Given the description of an element on the screen output the (x, y) to click on. 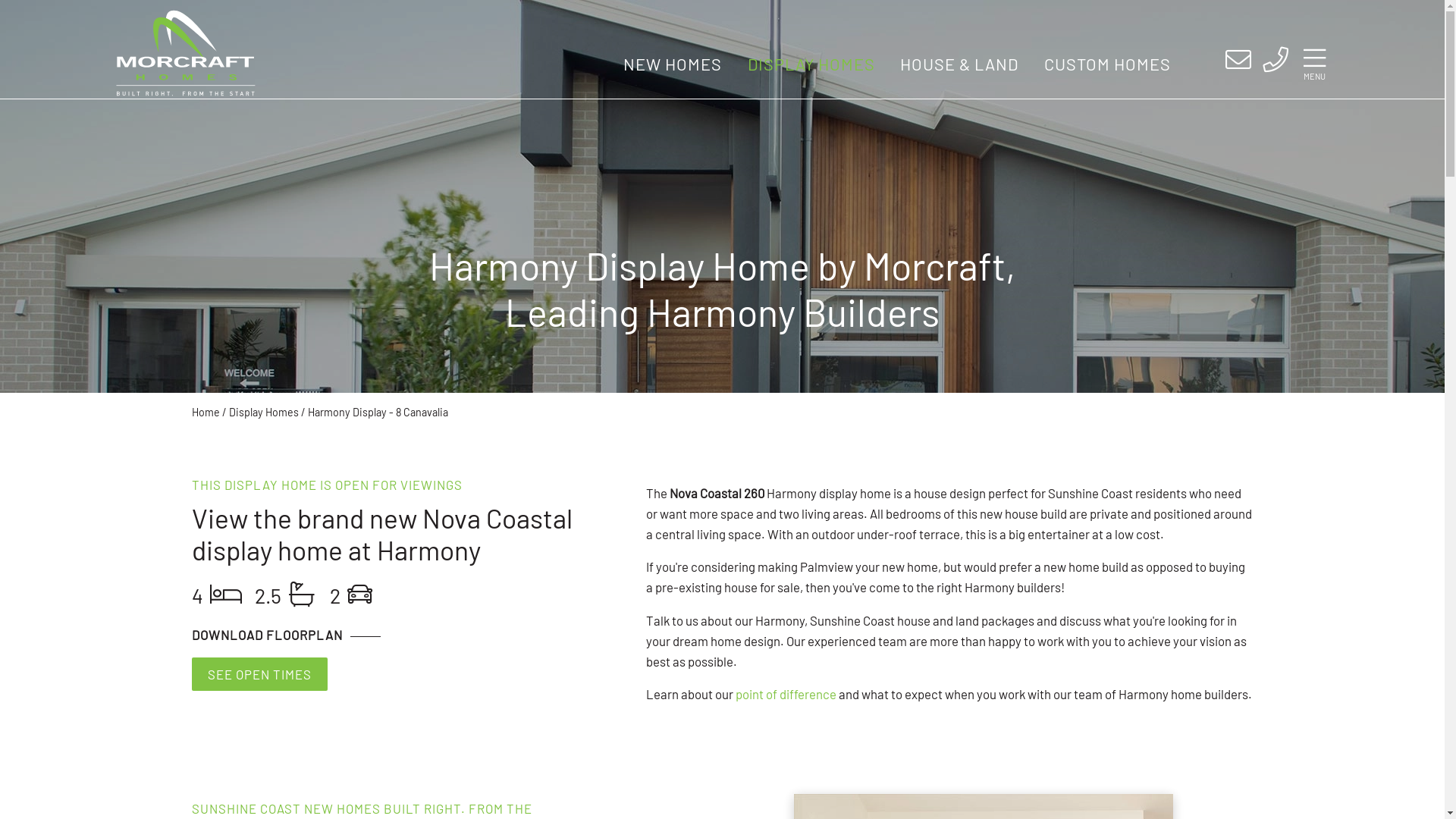
Home Element type: text (205, 411)
SEE OPEN TIMES Element type: text (258, 673)
NEW HOMES Element type: text (672, 63)
HOUSE & LAND Element type: text (959, 63)
DOWNLOAD FLOORPLAN Element type: text (285, 634)
MENU Element type: text (1314, 63)
Call Morcraft Homes Element type: hover (1275, 60)
point of difference Element type: text (785, 693)
Display Homes Element type: text (263, 411)
Morcraft Homes Element type: hover (185, 52)
CUSTOM HOMES Element type: text (1107, 63)
DISPLAY HOMES Element type: text (811, 63)
